Given the description of an element on the screen output the (x, y) to click on. 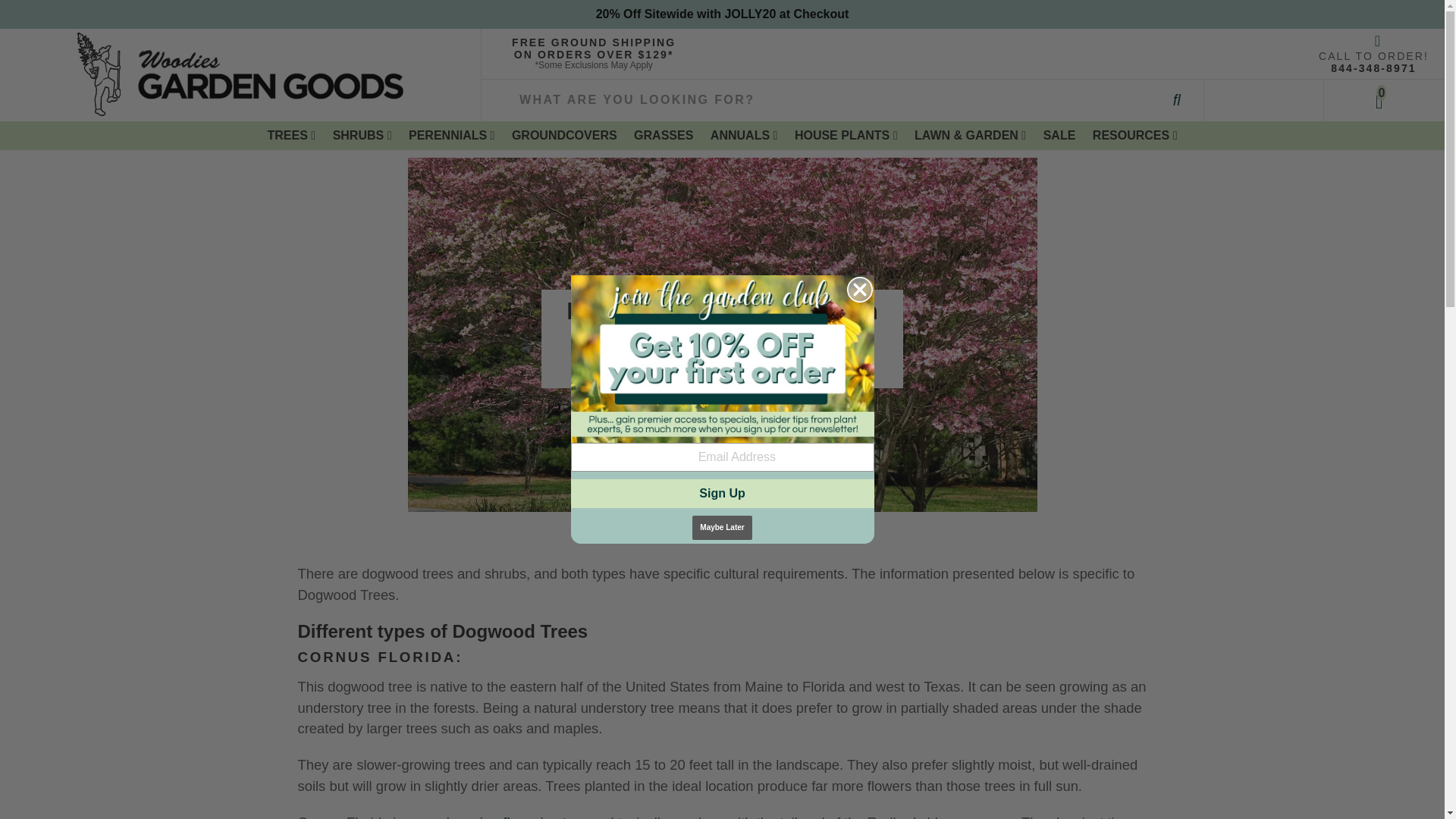
Close dialog 2 (858, 289)
844-348-8971 (1373, 68)
TREES (290, 135)
